Given the description of an element on the screen output the (x, y) to click on. 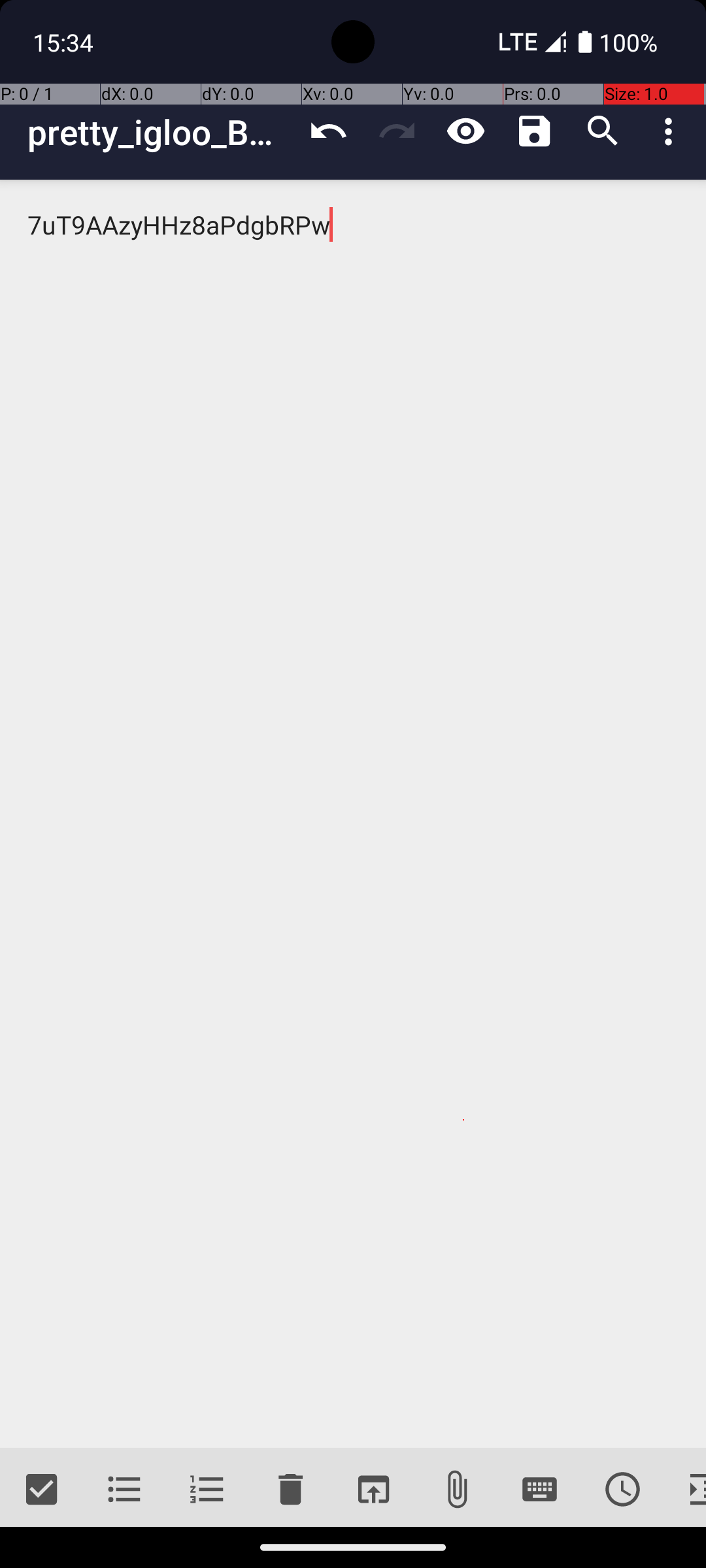
pretty_igloo_BP7P Element type: android.widget.TextView (160, 131)
7uT9AAzyHHz8aPdgbRPw Element type: android.widget.EditText (353, 813)
